Given the description of an element on the screen output the (x, y) to click on. 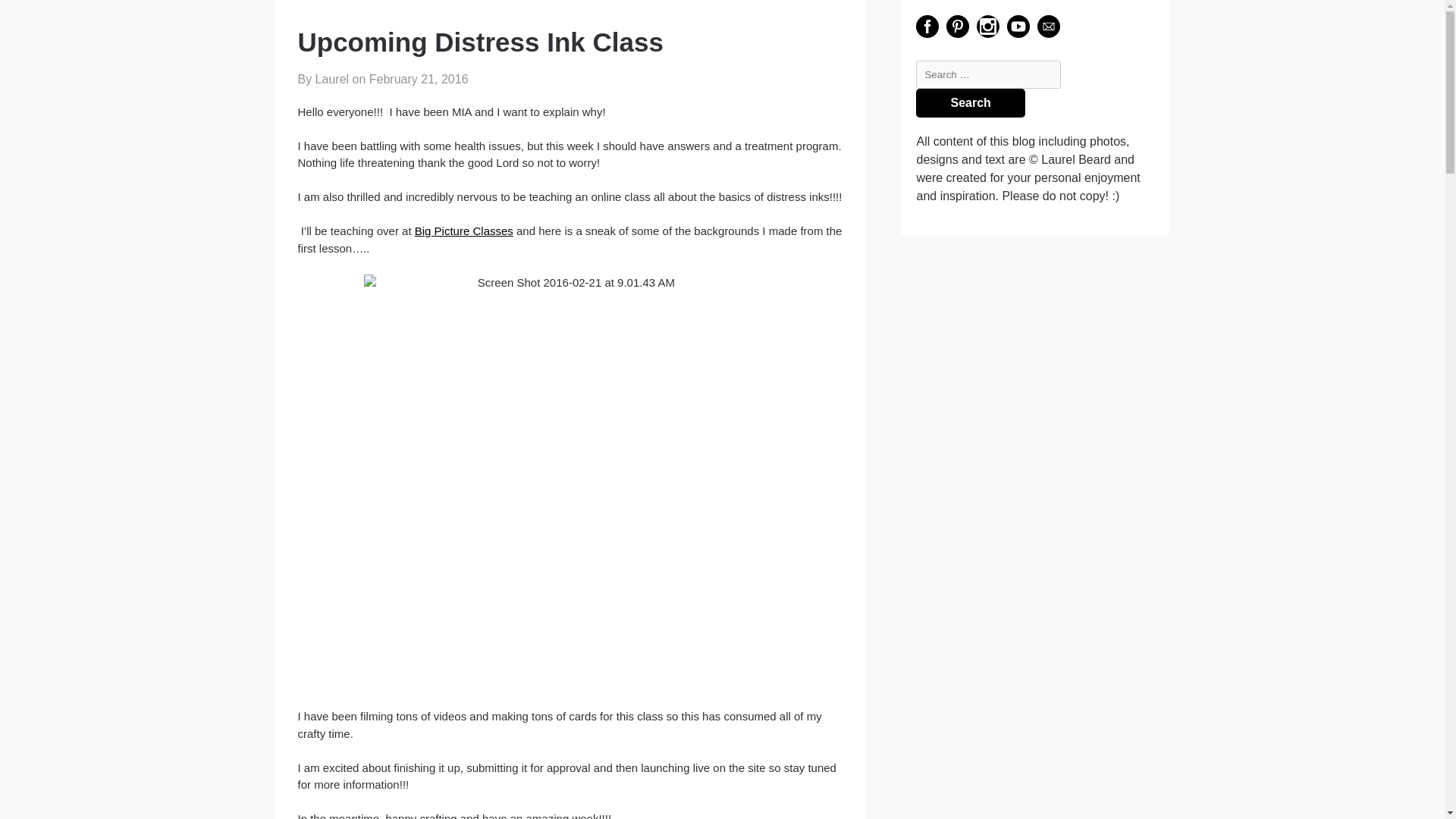
Search (970, 102)
February 21, 2016 (418, 78)
Big Picture Classes (463, 230)
Search (970, 102)
